Given the description of an element on the screen output the (x, y) to click on. 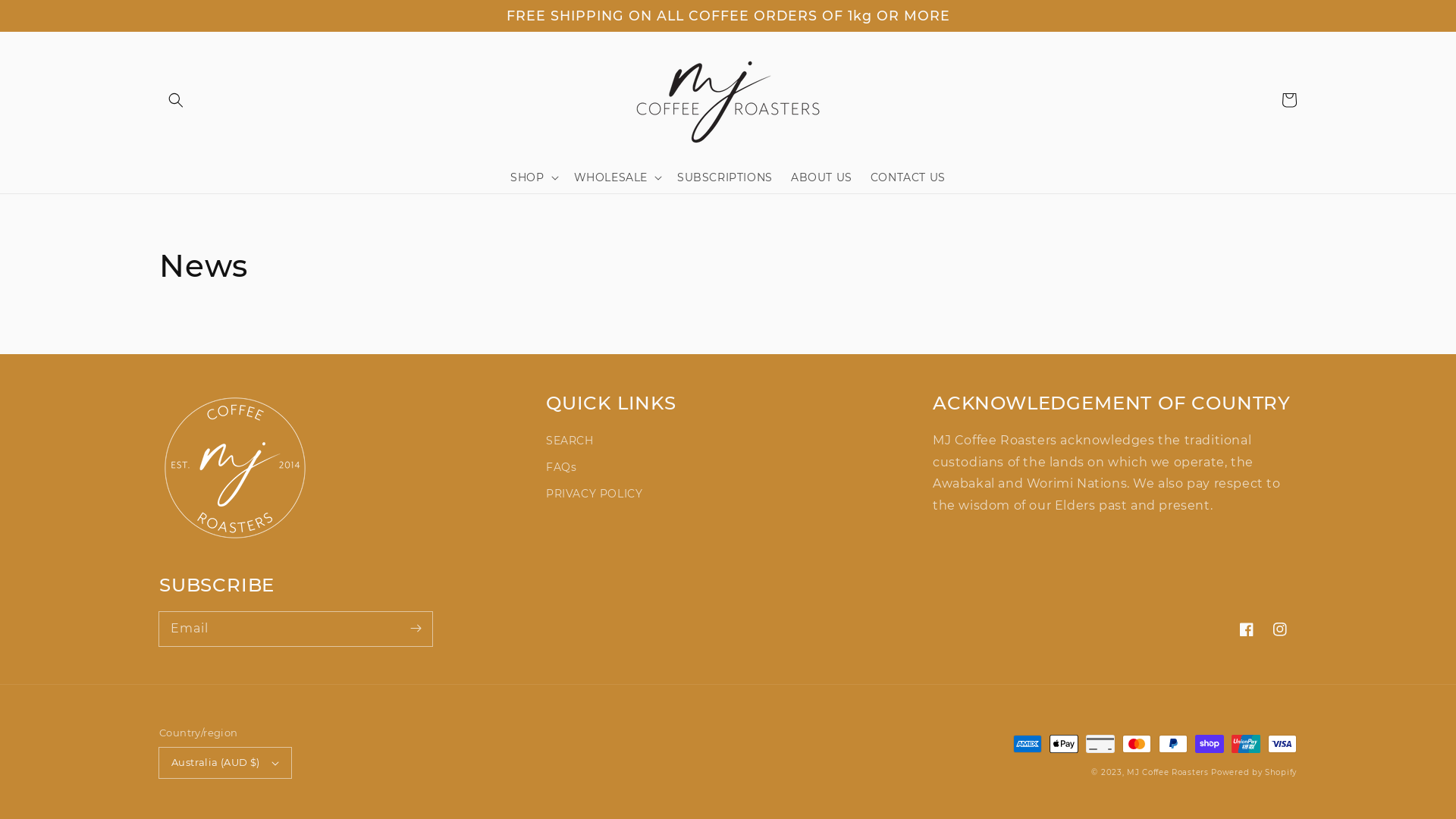
Instagram Element type: text (1279, 629)
SUBSCRIPTIONS Element type: text (724, 177)
Powered by Shopify Element type: text (1253, 772)
Cart Element type: text (1288, 99)
CONTACT US Element type: text (907, 177)
MJ Coffee Roasters Element type: text (1167, 772)
Australia (AUD $) Element type: text (225, 762)
SEARCH Element type: text (569, 442)
FAQs Element type: text (561, 467)
PRIVACY POLICY Element type: text (594, 493)
Facebook Element type: text (1246, 629)
ABOUT US Element type: text (821, 177)
